Given the description of an element on the screen output the (x, y) to click on. 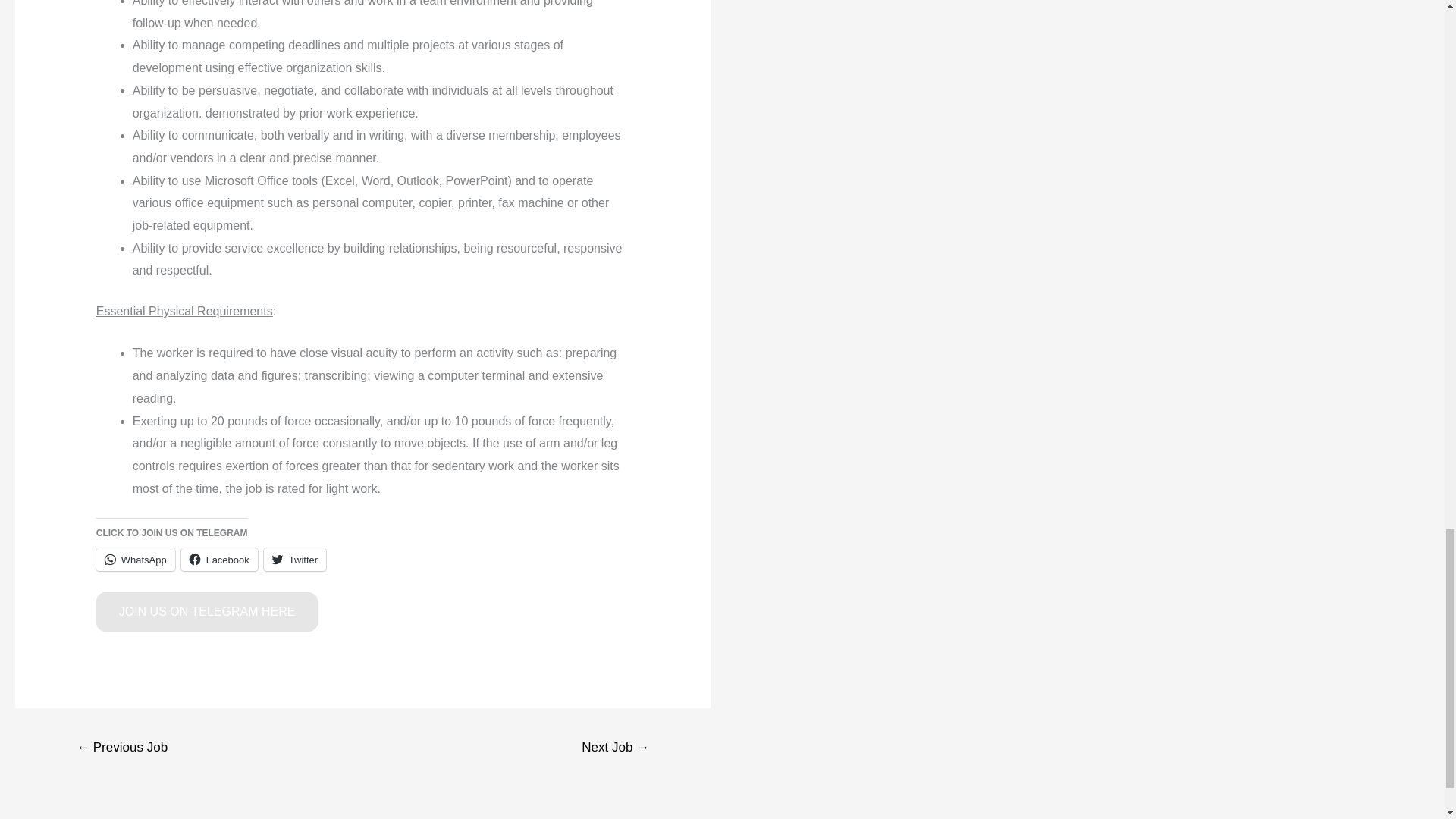
Click to share on Twitter (294, 558)
Click to share on Facebook (218, 558)
Click to share on WhatsApp (135, 558)
